Given the description of an element on the screen output the (x, y) to click on. 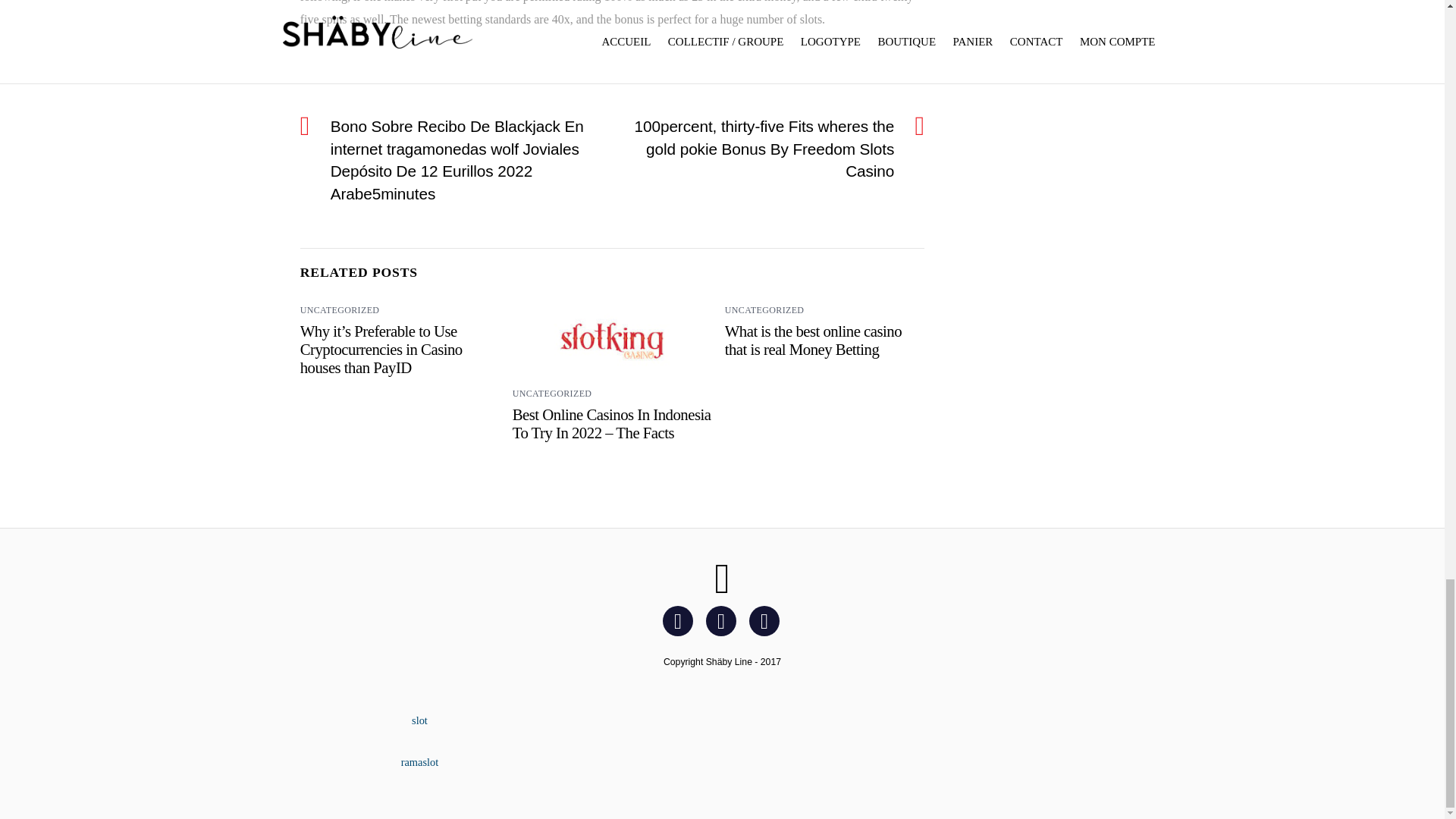
UNCATEGORIZED (765, 309)
UNCATEGORIZED (552, 393)
slot (420, 720)
Facebook (680, 620)
YouTube (766, 620)
What is the best online casino that is real Money Betting (813, 339)
Instagram (723, 620)
What is the best online casino that is real Money Betting (813, 339)
ramaslot (420, 761)
